Given the description of an element on the screen output the (x, y) to click on. 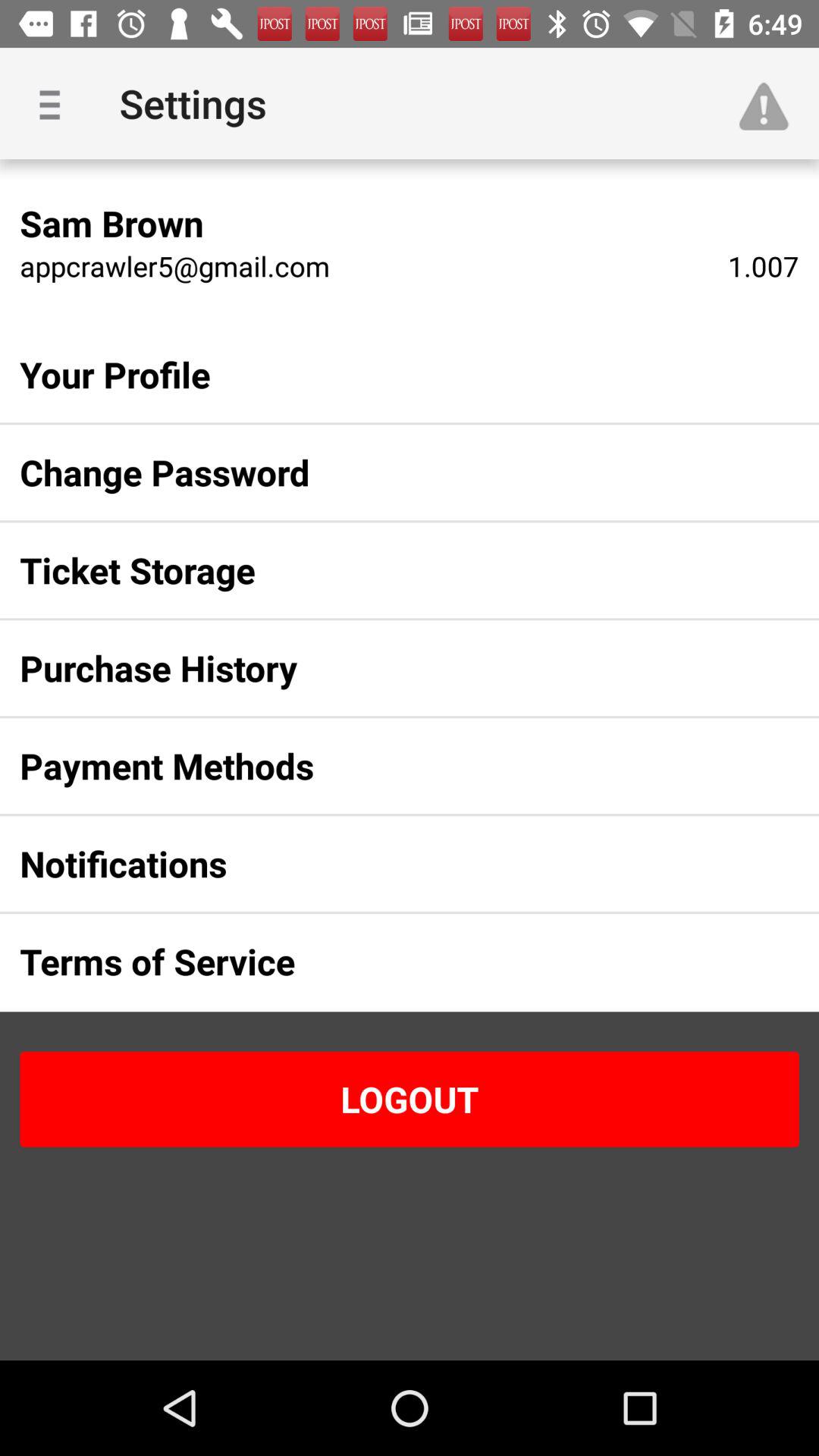
turn on the payment methods item (385, 765)
